Given the description of an element on the screen output the (x, y) to click on. 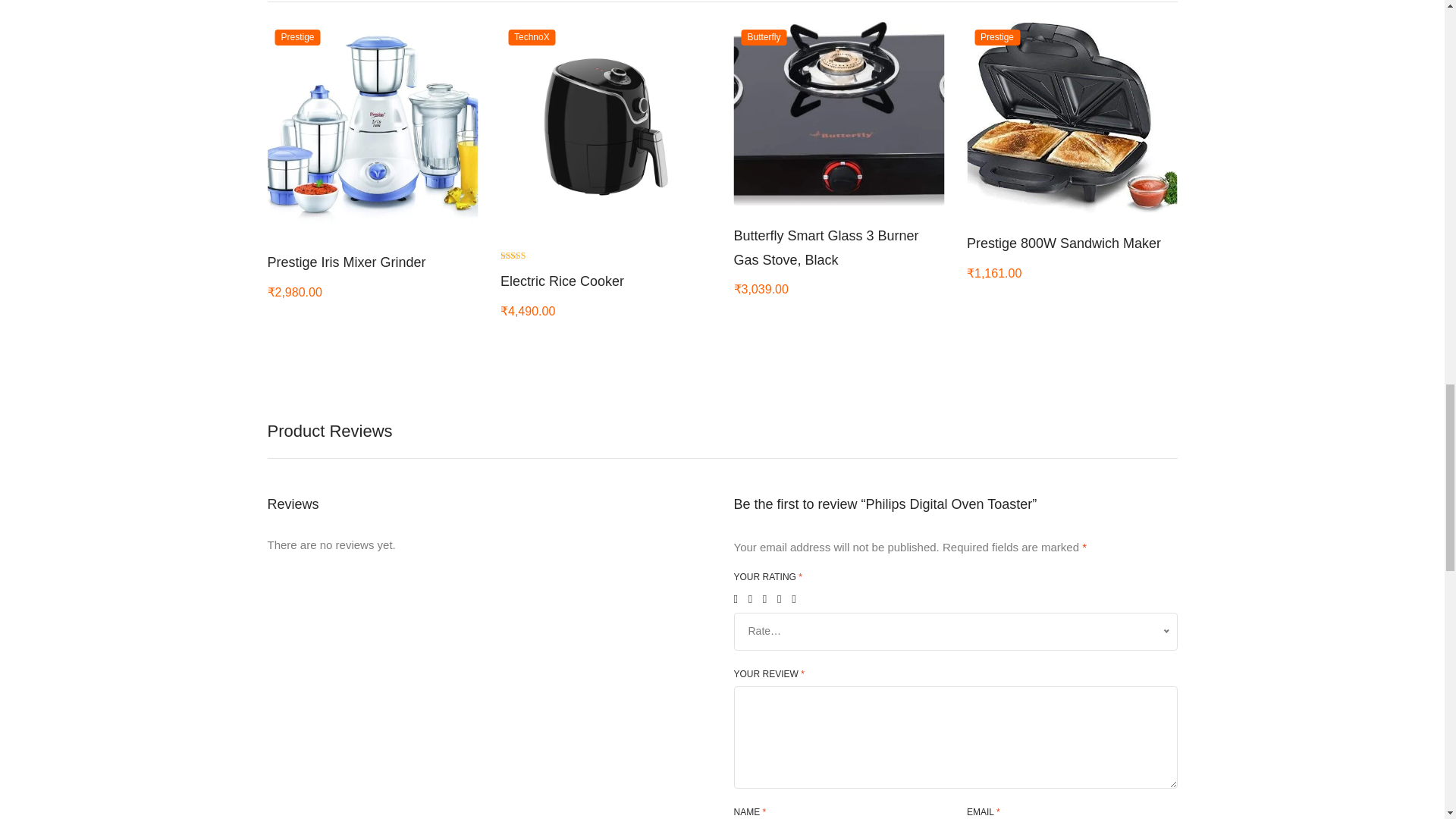
prestige (297, 36)
